Given the description of an element on the screen output the (x, y) to click on. 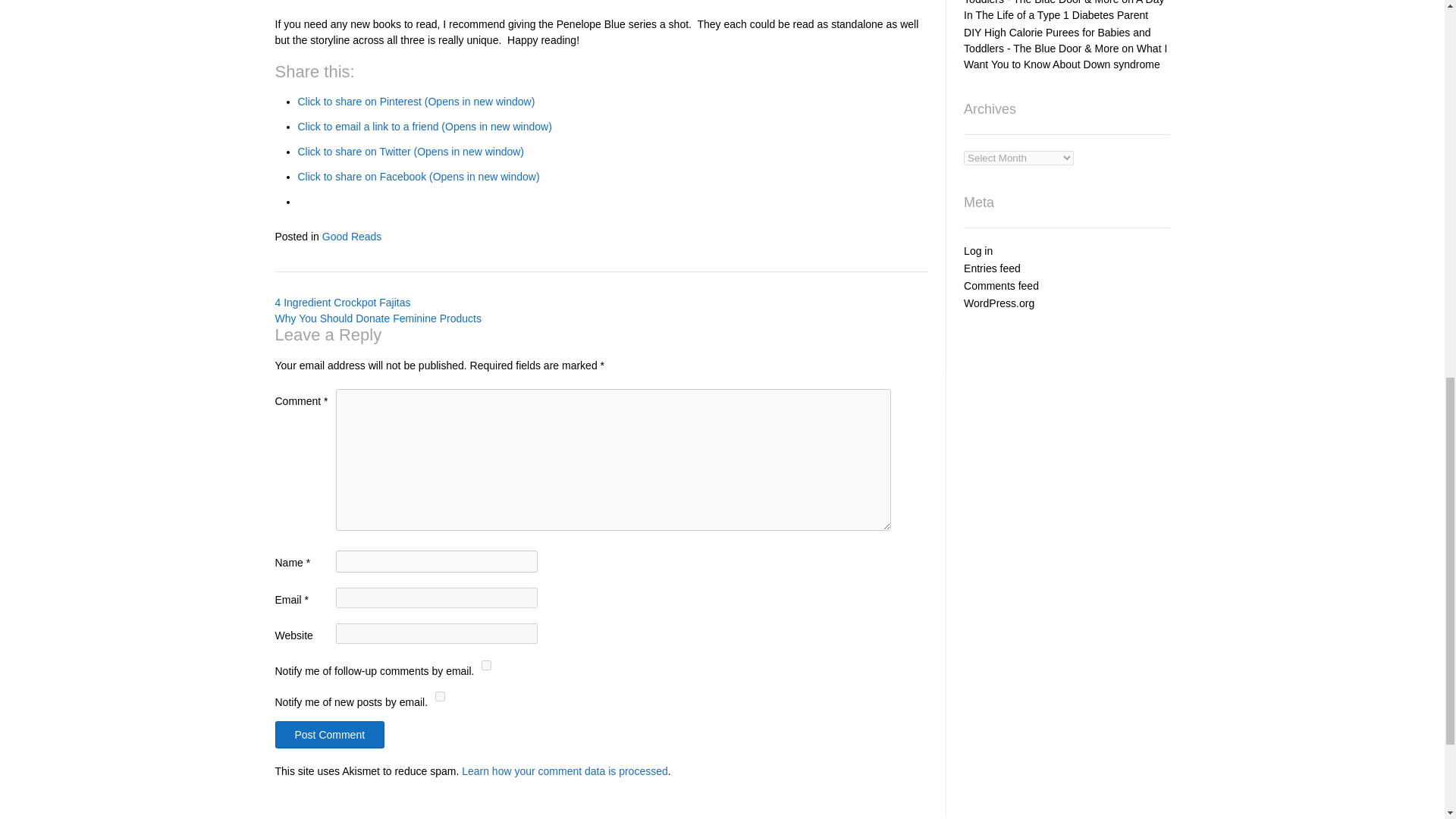
Click to email a link to a friend (424, 720)
Click to share on Facebook (417, 770)
Click to share on Pinterest (415, 695)
Click to share on Twitter (410, 745)
